Given the description of an element on the screen output the (x, y) to click on. 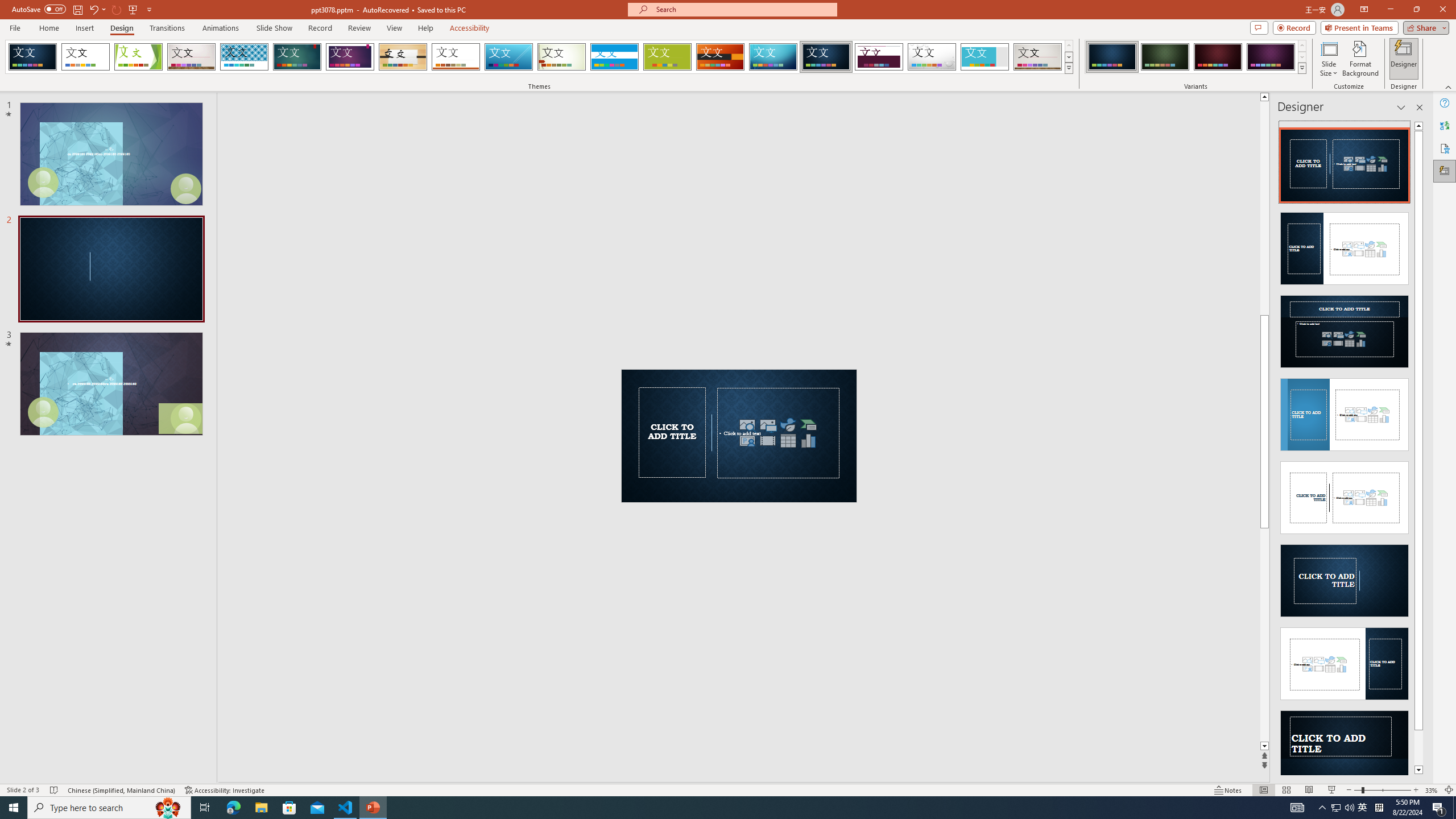
Office Theme (85, 56)
Insert a SmartArt Graphic (808, 424)
Wisp (561, 56)
Retrospect (455, 56)
Damask Variant 2 (1164, 56)
Slide Size (1328, 58)
